Given the description of an element on the screen output the (x, y) to click on. 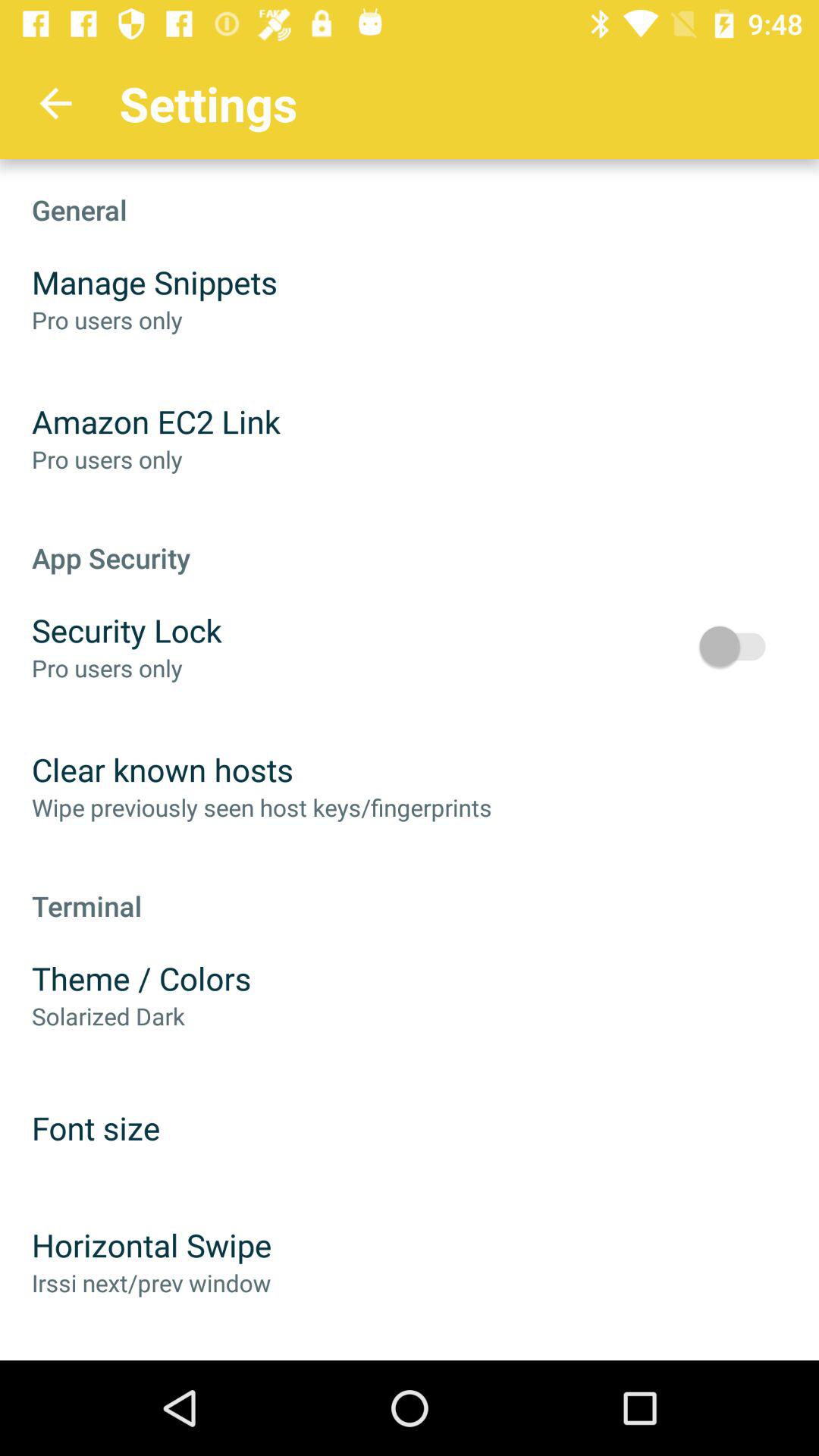
choose icon next to settings (55, 103)
